Given the description of an element on the screen output the (x, y) to click on. 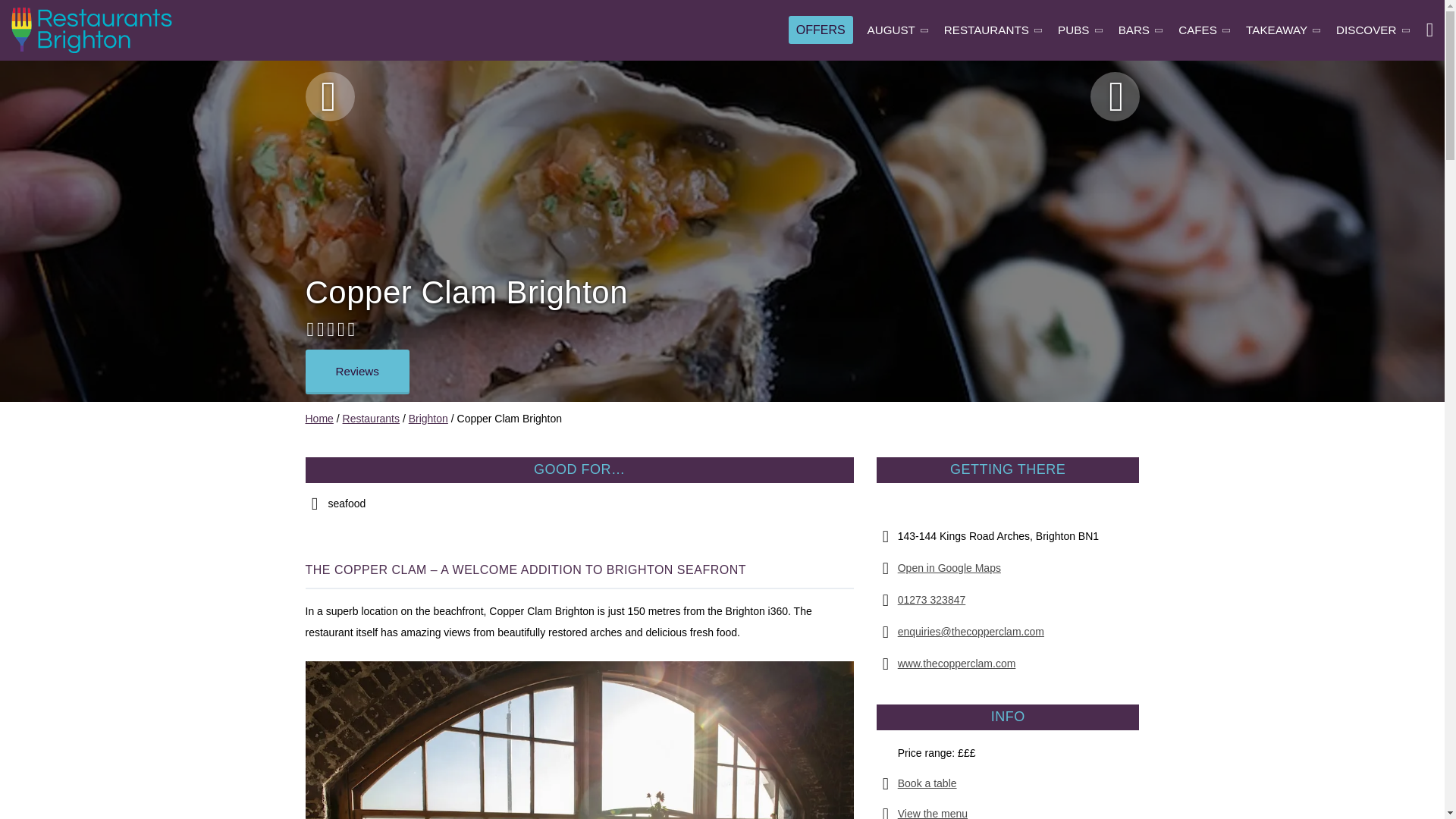
AUGUST (898, 30)
RESTAURANTS (993, 30)
OFFERS (821, 29)
